Given the description of an element on the screen output the (x, y) to click on. 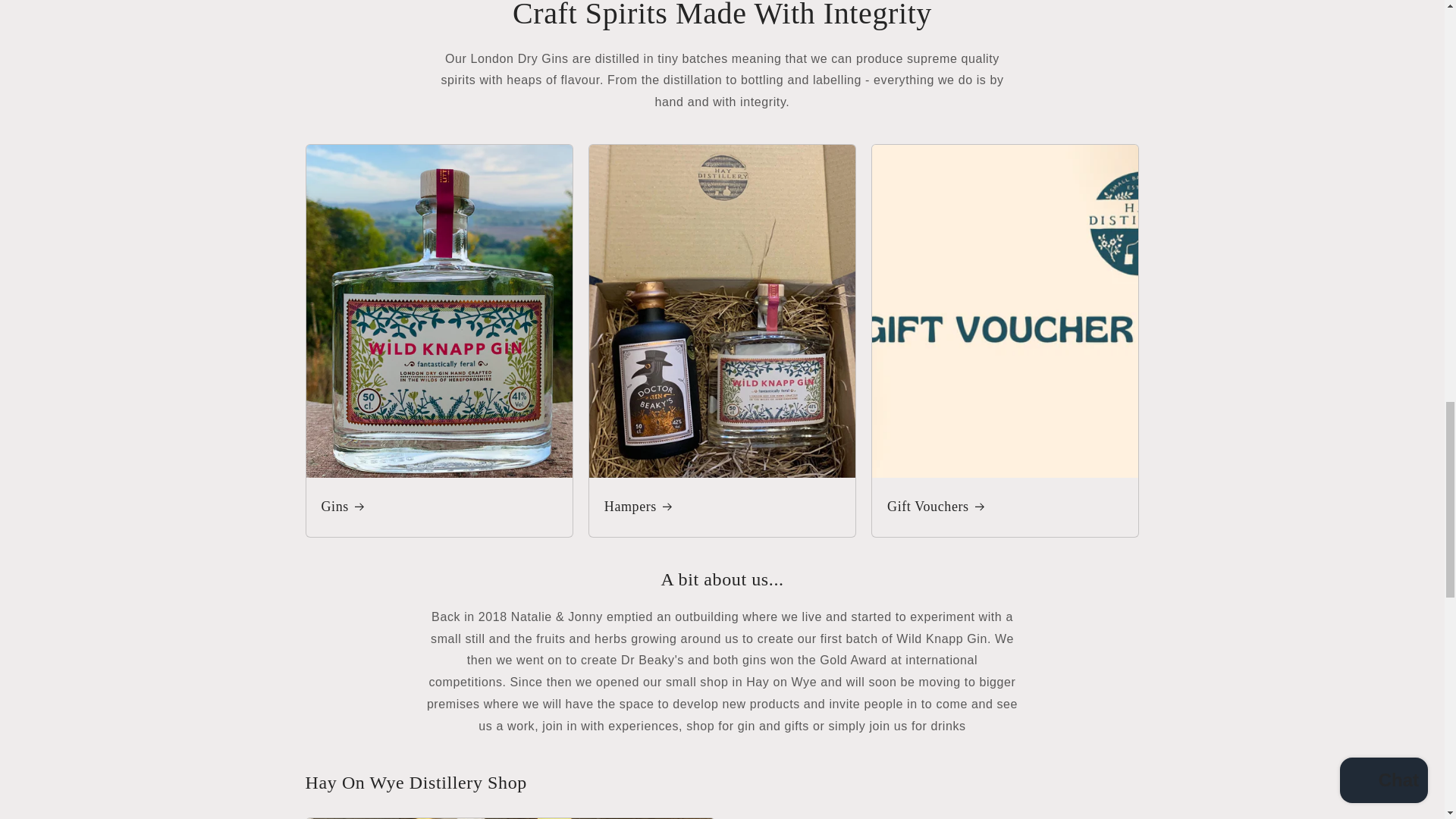
Hampers (722, 506)
Gift Vouchers (1004, 506)
Gins (439, 506)
